Given the description of an element on the screen output the (x, y) to click on. 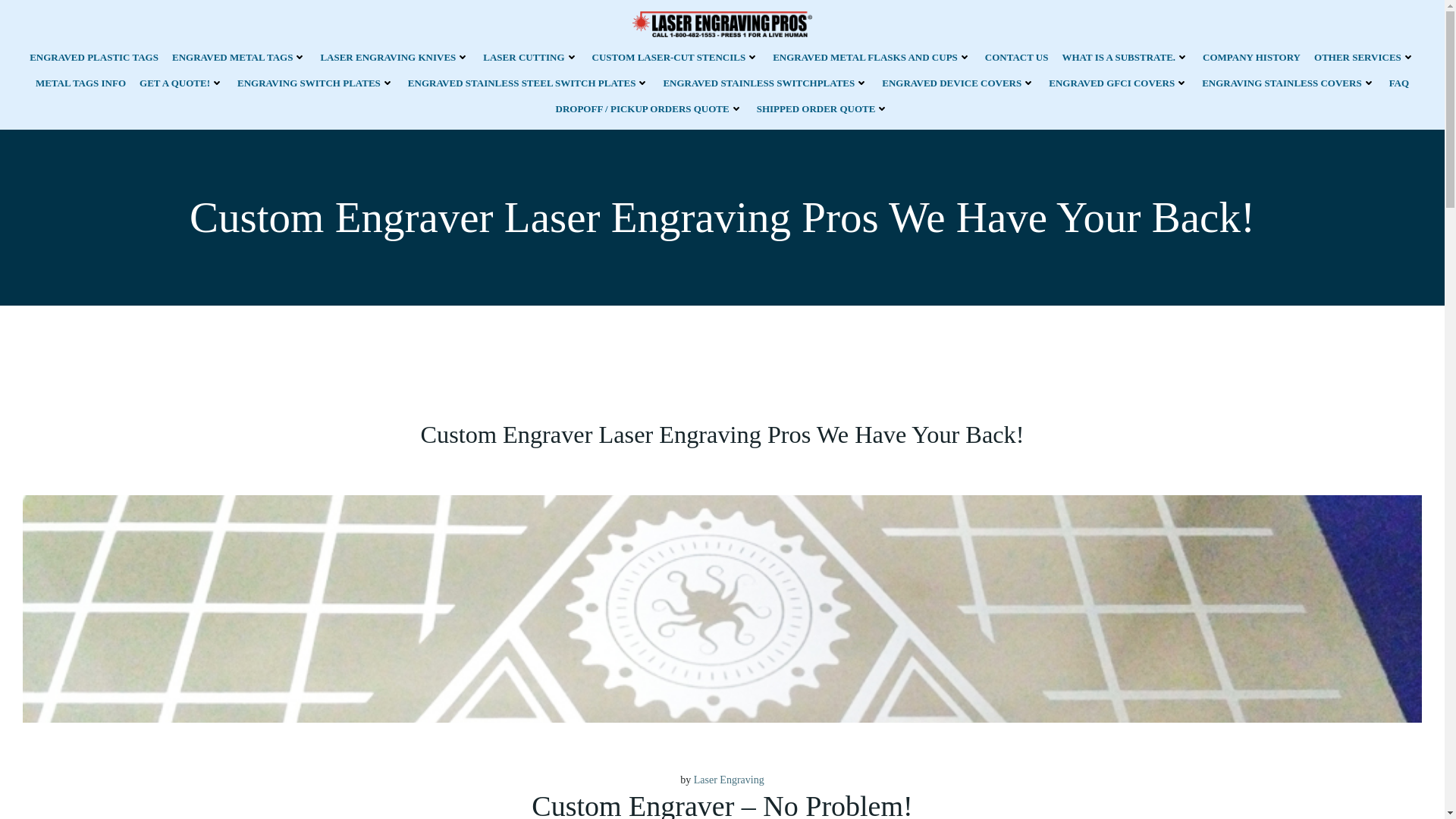
Custom Engraver Laser Engraving Pros We Have Your Back! (722, 607)
CUSTOM LASER-CUT STENCILS (676, 57)
CONTACT US (1016, 57)
LASER CUTTING (530, 57)
ENGRAVED METAL FLASKS AND CUPS (872, 57)
WHAT IS A SUBSTRATE. (1125, 57)
ENGRAVED PLASTIC TAGS (93, 57)
ENGRAVED METAL TAGS (238, 57)
LASER ENGRAVING KNIVES (394, 57)
